Given the description of an element on the screen output the (x, y) to click on. 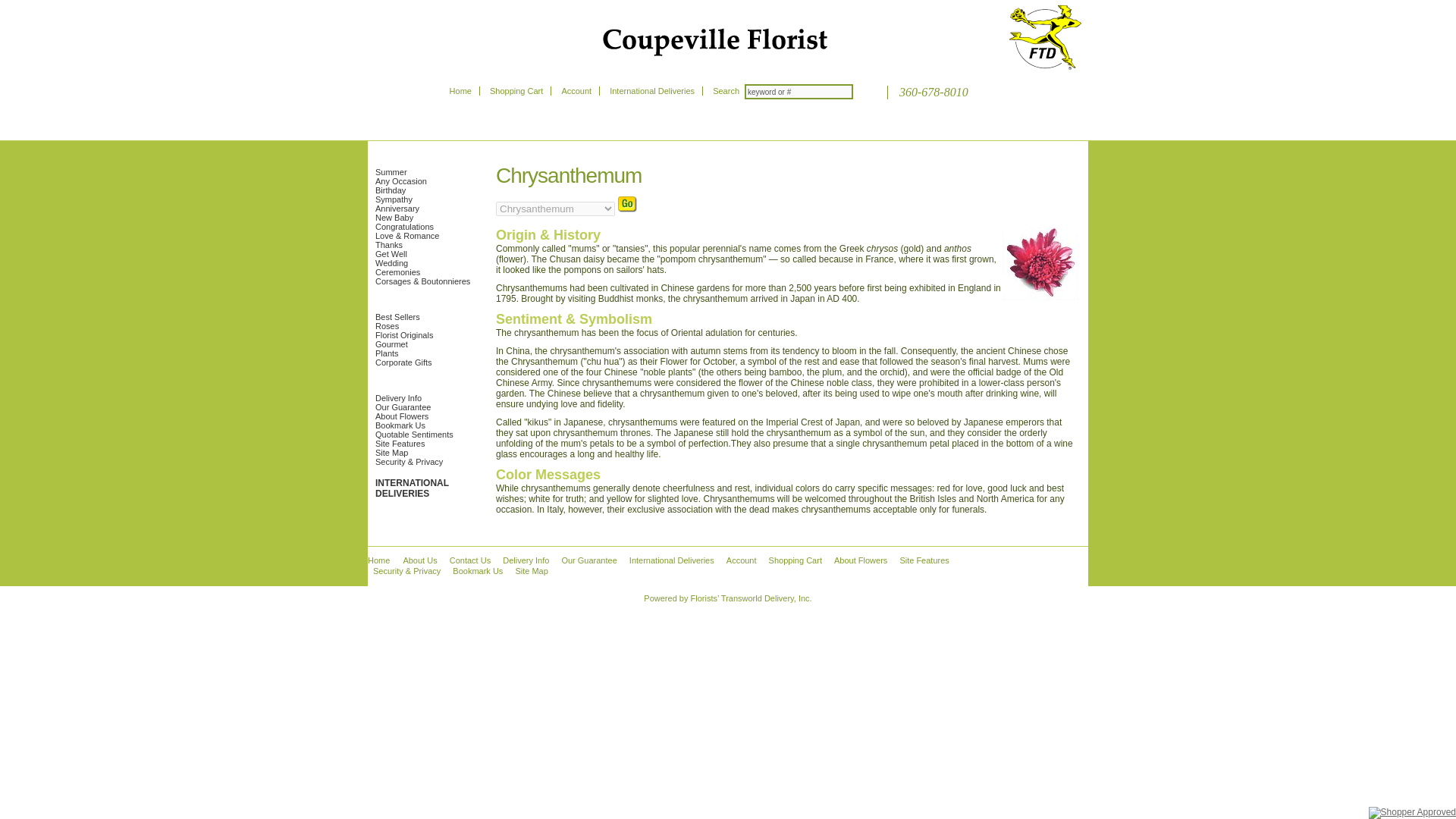
Home (461, 90)
Shopping Cart (516, 90)
International Deliveries (652, 90)
Account (576, 90)
